Given the description of an element on the screen output the (x, y) to click on. 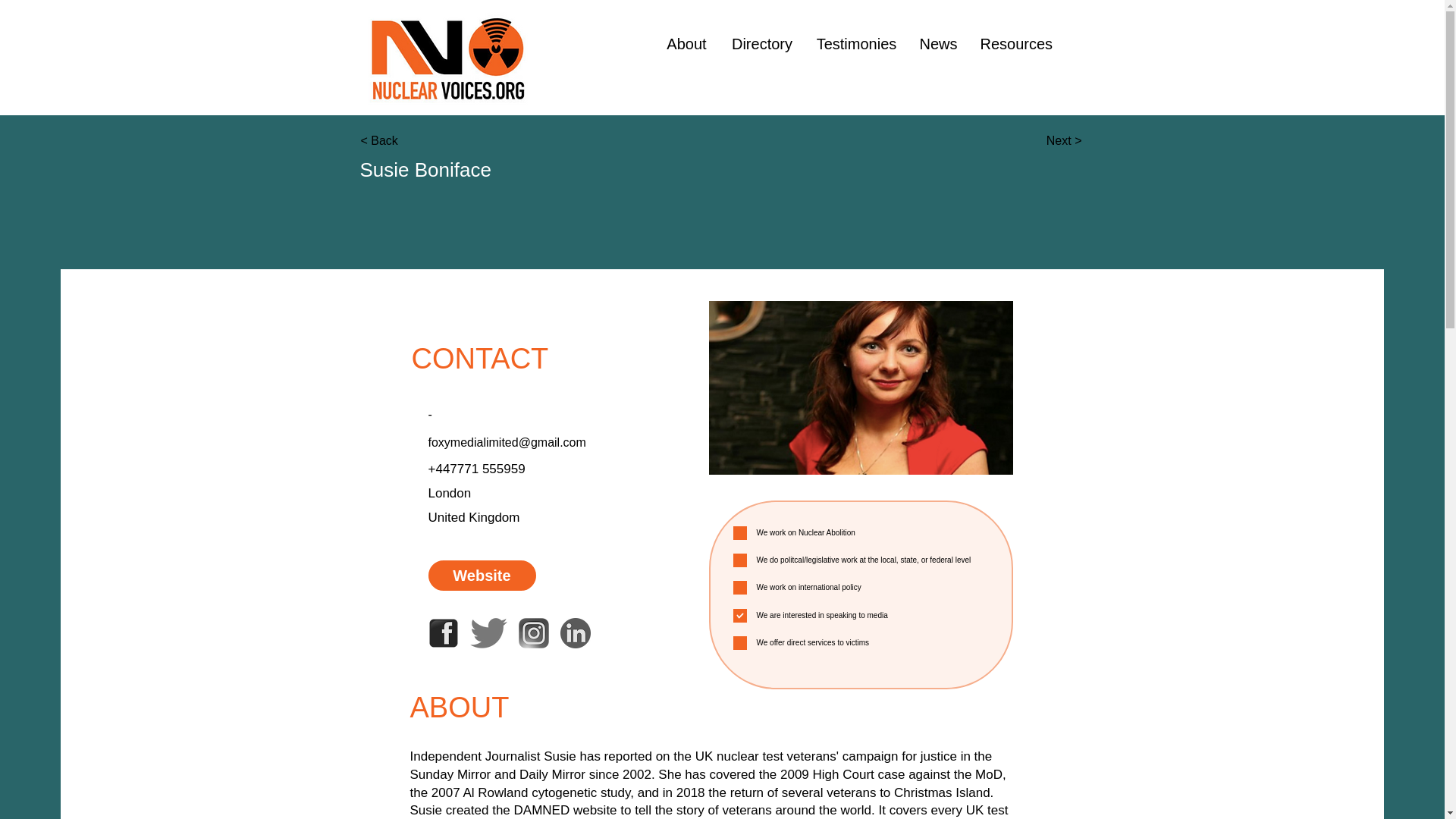
Directory (762, 44)
About (686, 44)
News (938, 44)
PRC Social Icon 2017.png (860, 388)
Testimonies (856, 44)
Resources (1015, 44)
